Given the description of an element on the screen output the (x, y) to click on. 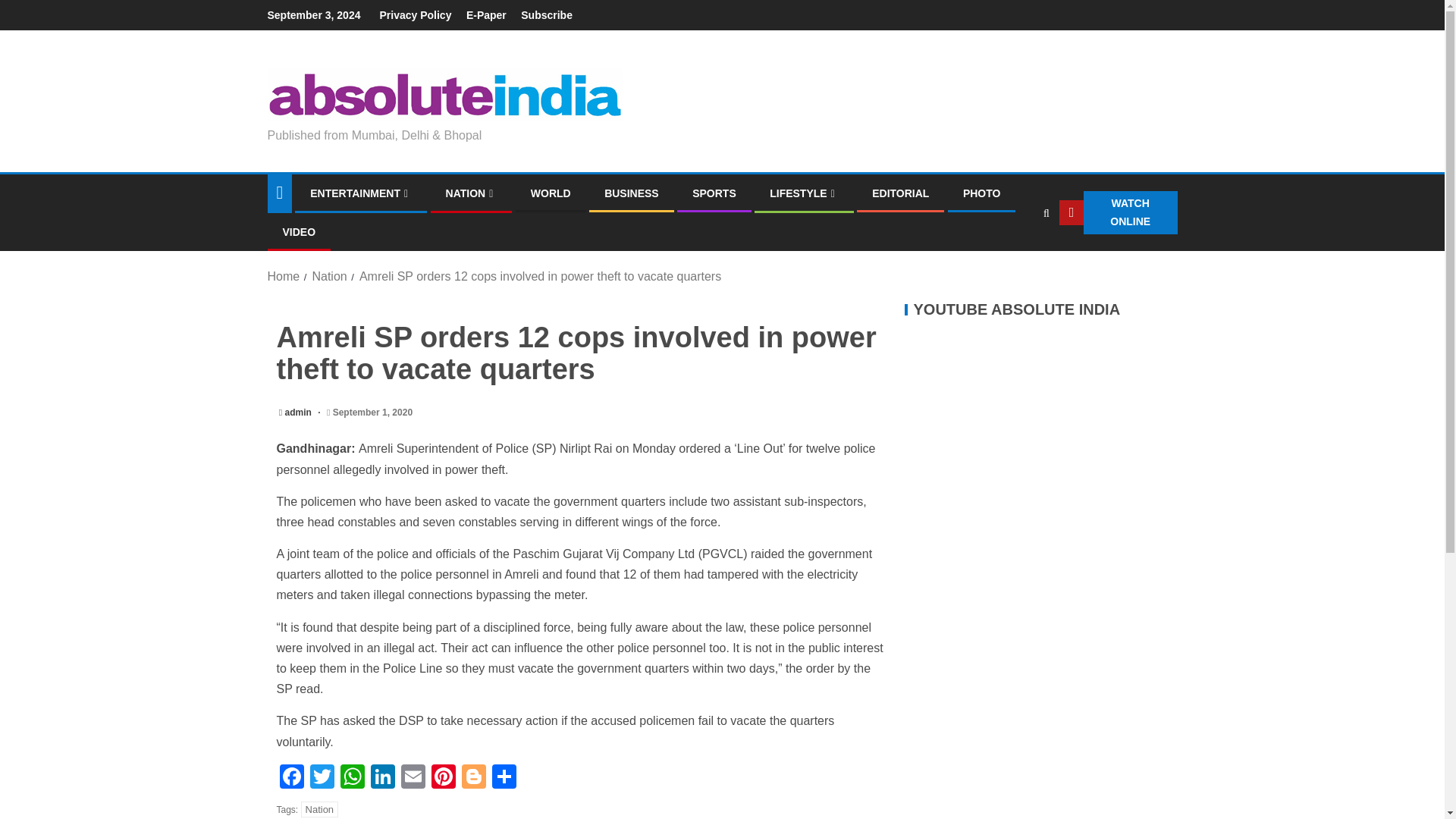
Search (1016, 258)
Nation (328, 276)
Email (412, 778)
Subscribe (546, 15)
WhatsApp (351, 778)
WORLD (550, 193)
SPORTS (714, 193)
WhatsApp (351, 778)
Privacy Policy (414, 15)
Home (282, 276)
